Given the description of an element on the screen output the (x, y) to click on. 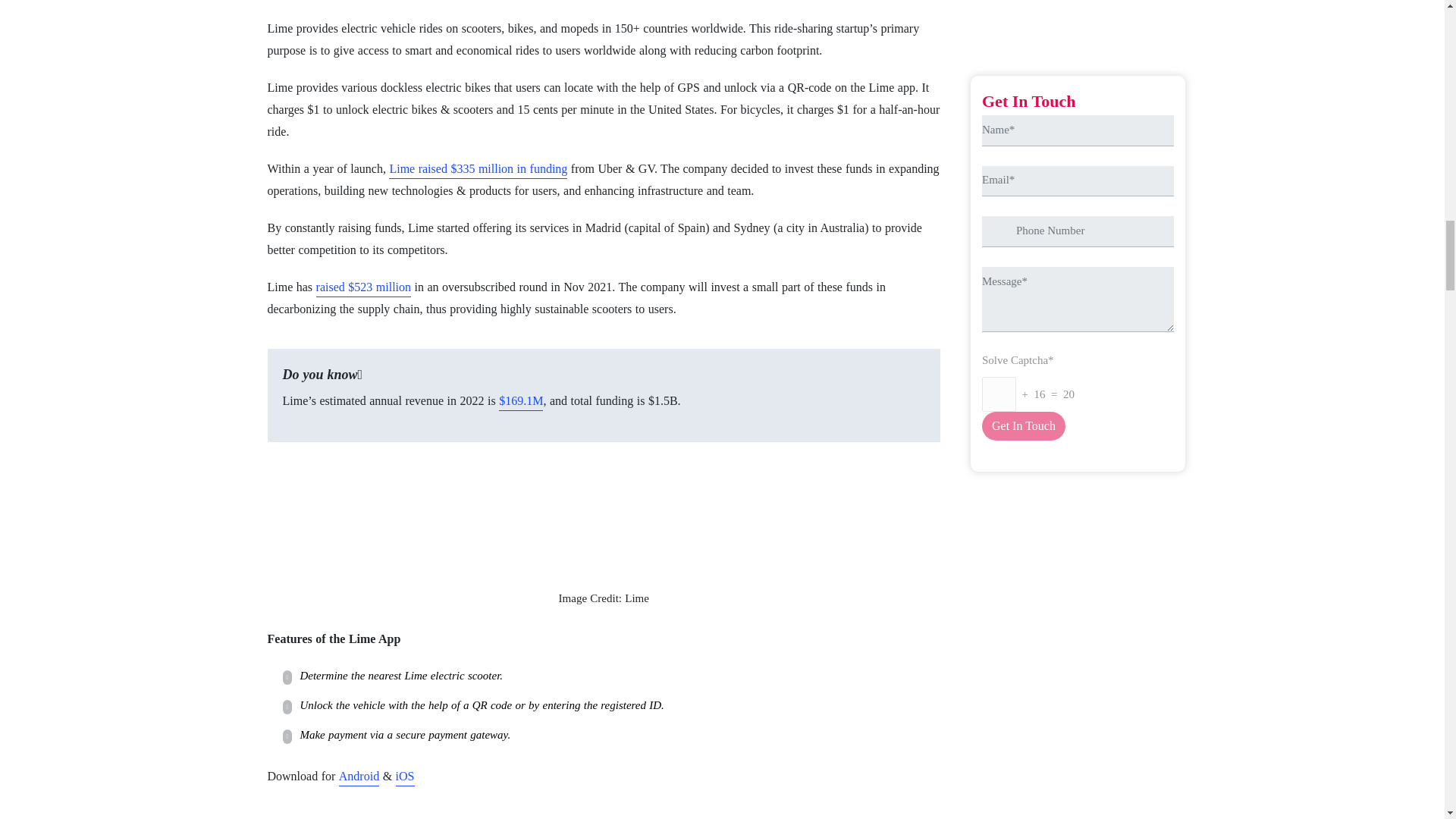
Lime - Your Ride Anytime (603, 511)
